Given the description of an element on the screen output the (x, y) to click on. 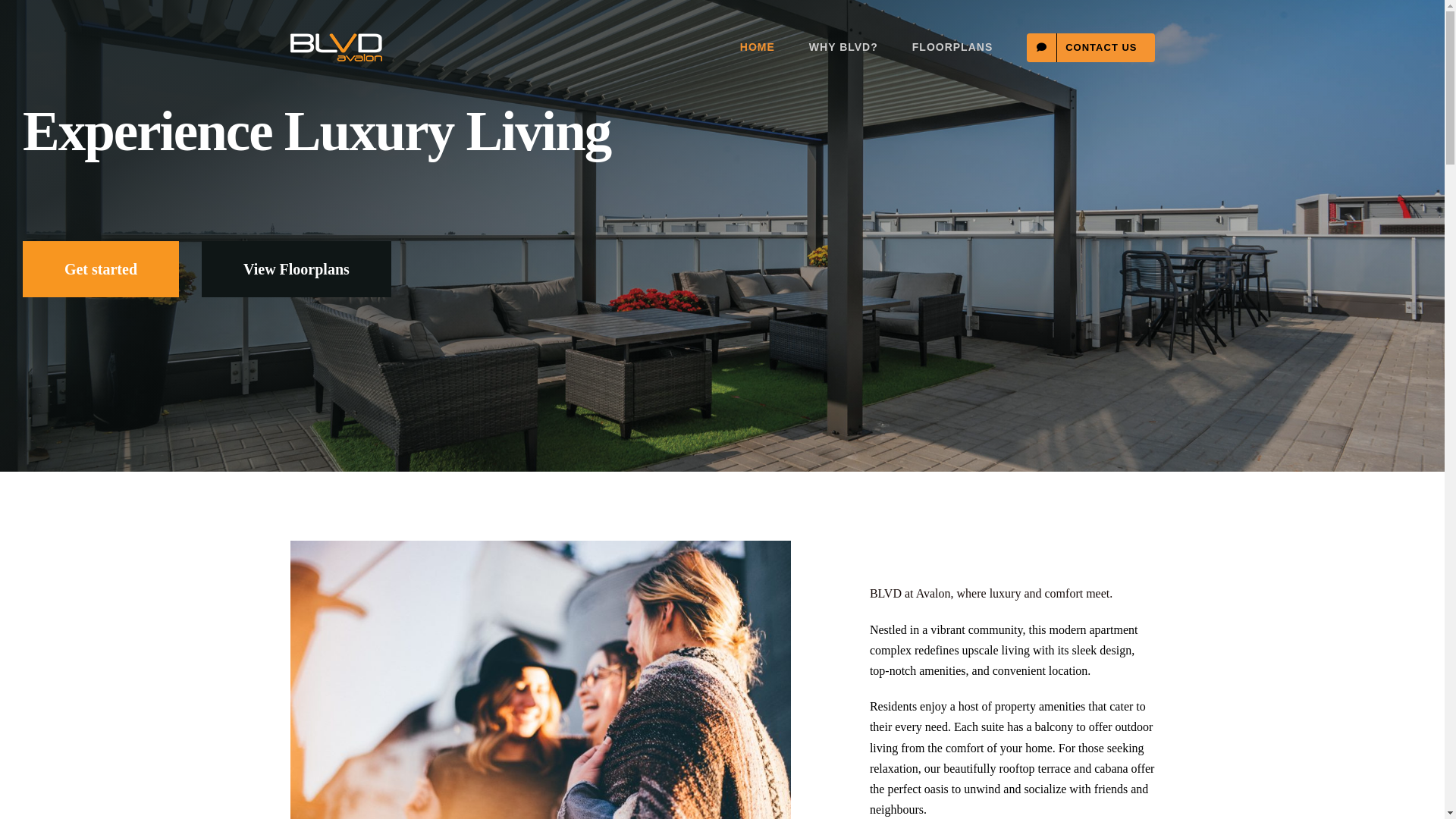
CONTACT US Element type: text (1090, 46)
Get started Element type: text (100, 269)
View Floorplans Element type: text (296, 269)
HOME Element type: text (757, 46)
FLOORPLANS Element type: text (952, 46)
WHY BLVD? Element type: text (843, 46)
